Given the description of an element on the screen output the (x, y) to click on. 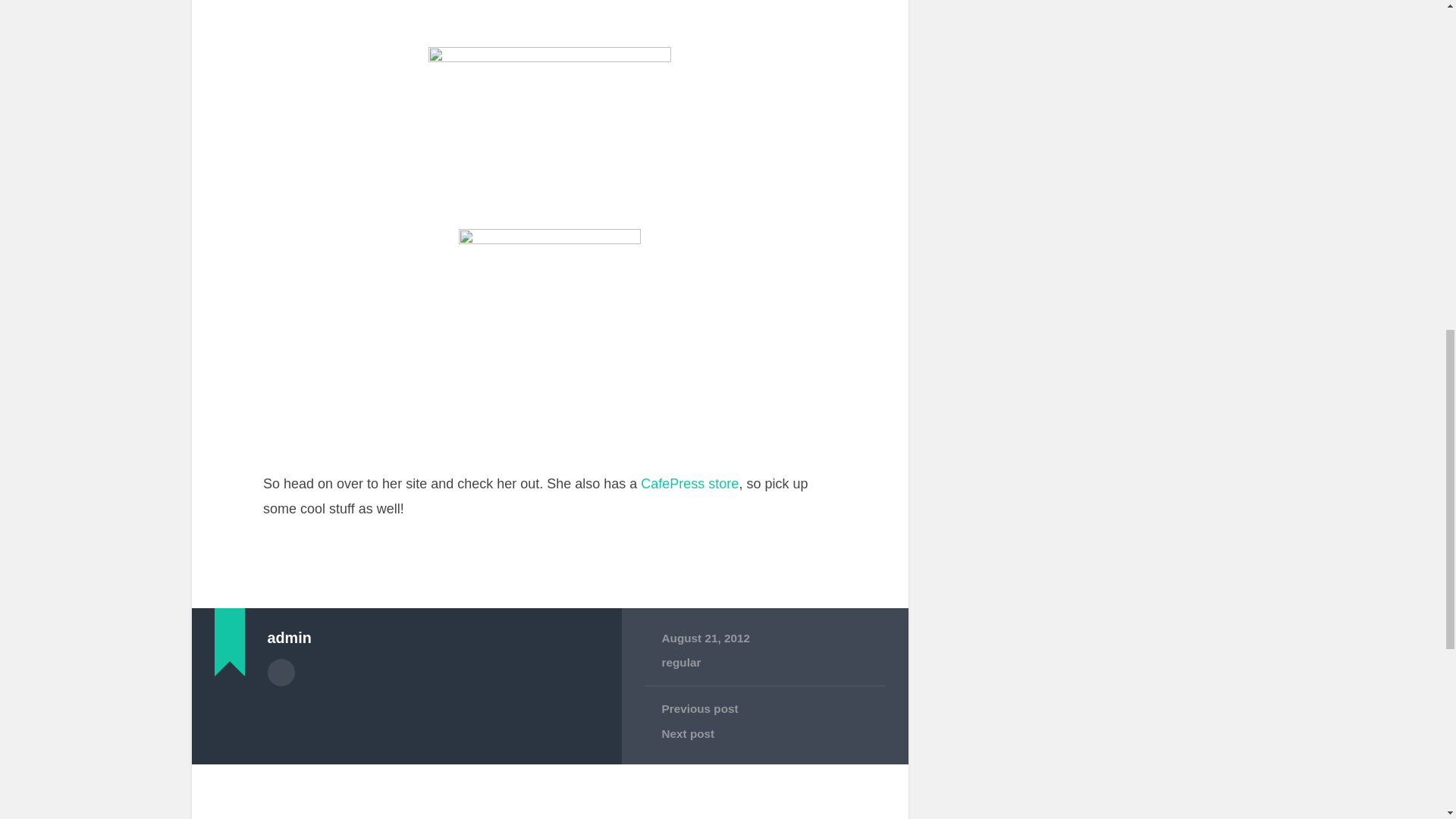
Next post (765, 734)
Author archive (280, 672)
Previous post (765, 708)
CafePress store (689, 483)
regular (680, 662)
